Given the description of an element on the screen output the (x, y) to click on. 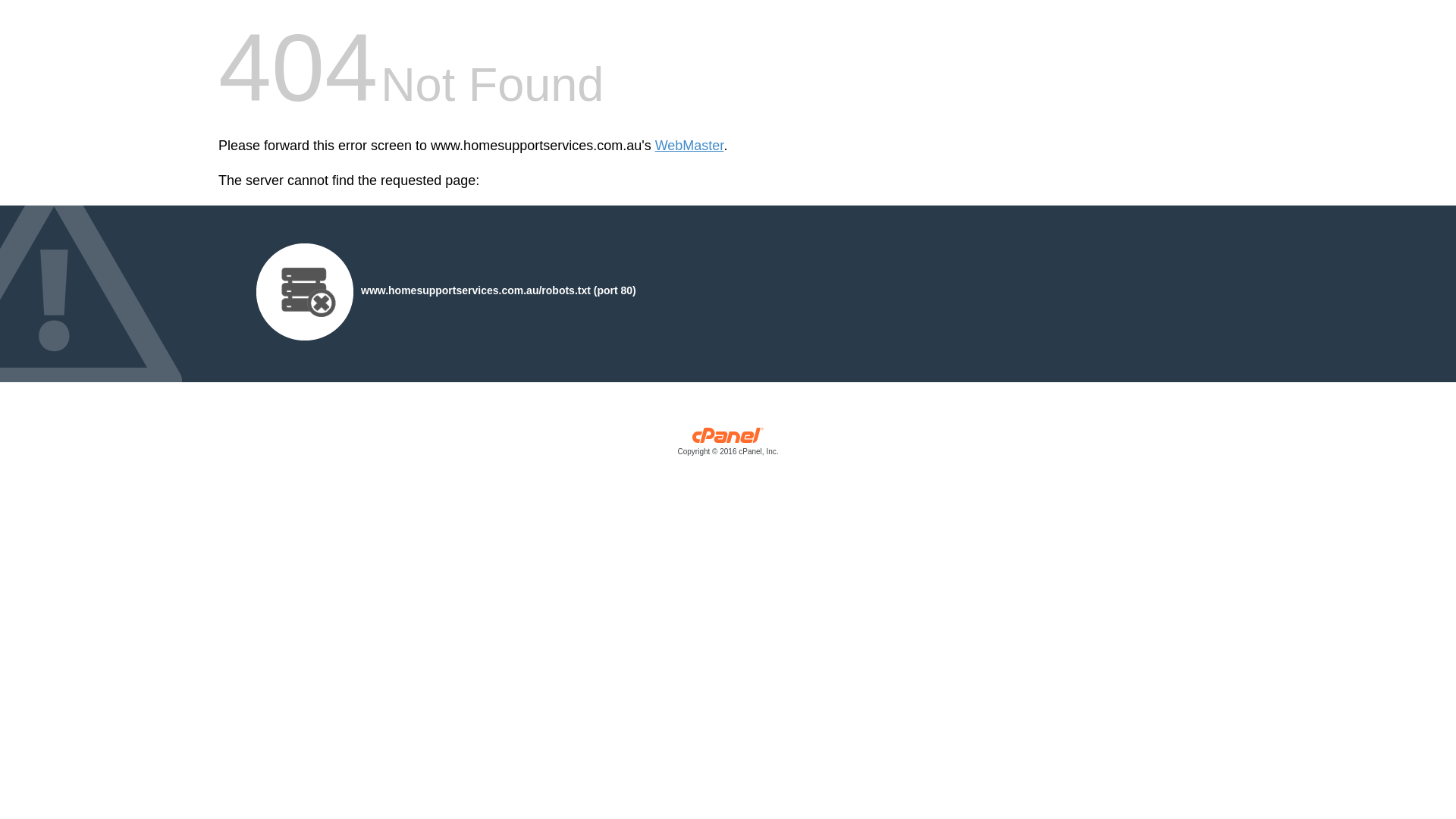
WebMaster Element type: text (689, 145)
